Given the description of an element on the screen output the (x, y) to click on. 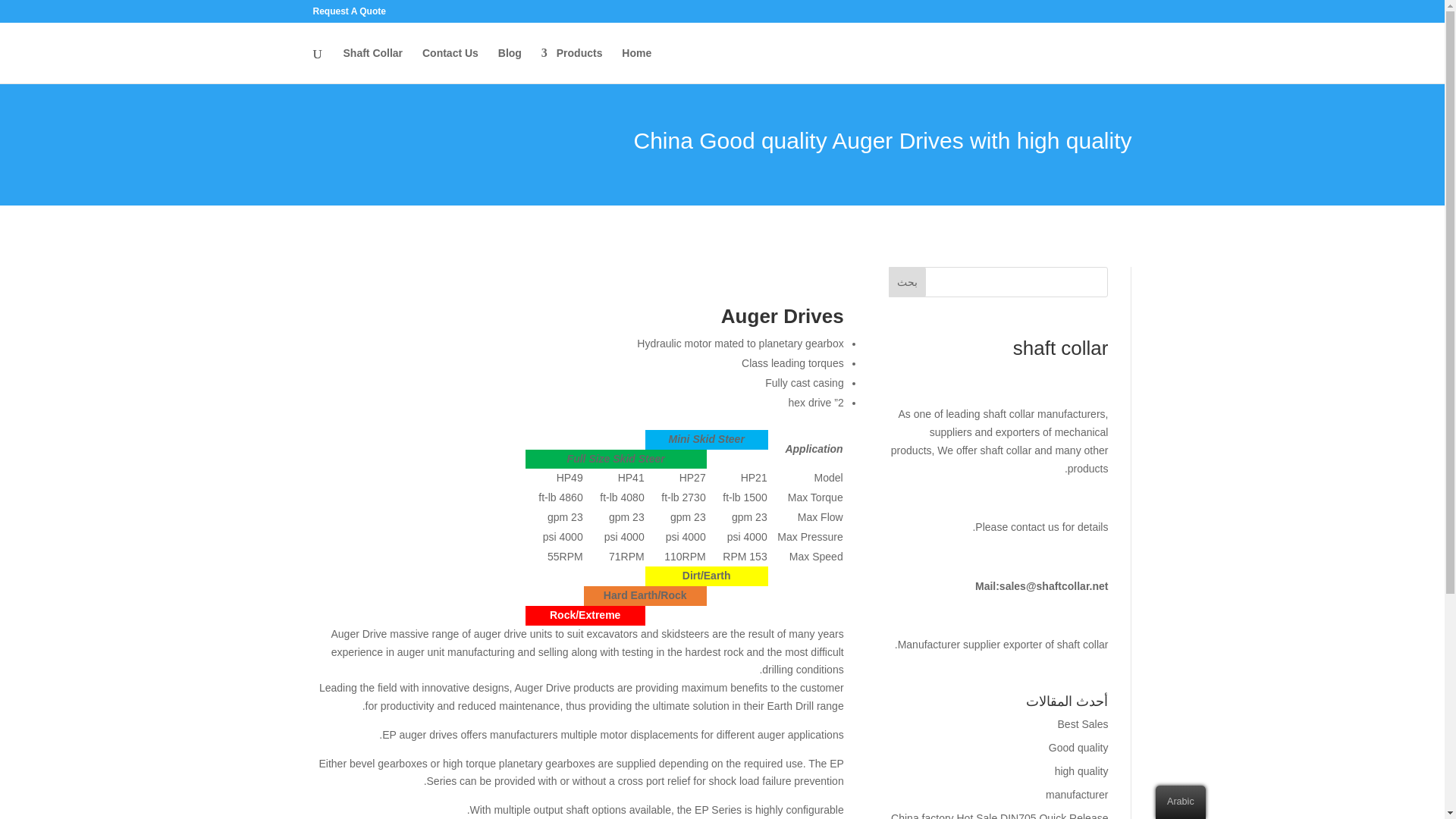
Request A Quote (349, 14)
Products (571, 65)
Home (635, 65)
